Given the description of an element on the screen output the (x, y) to click on. 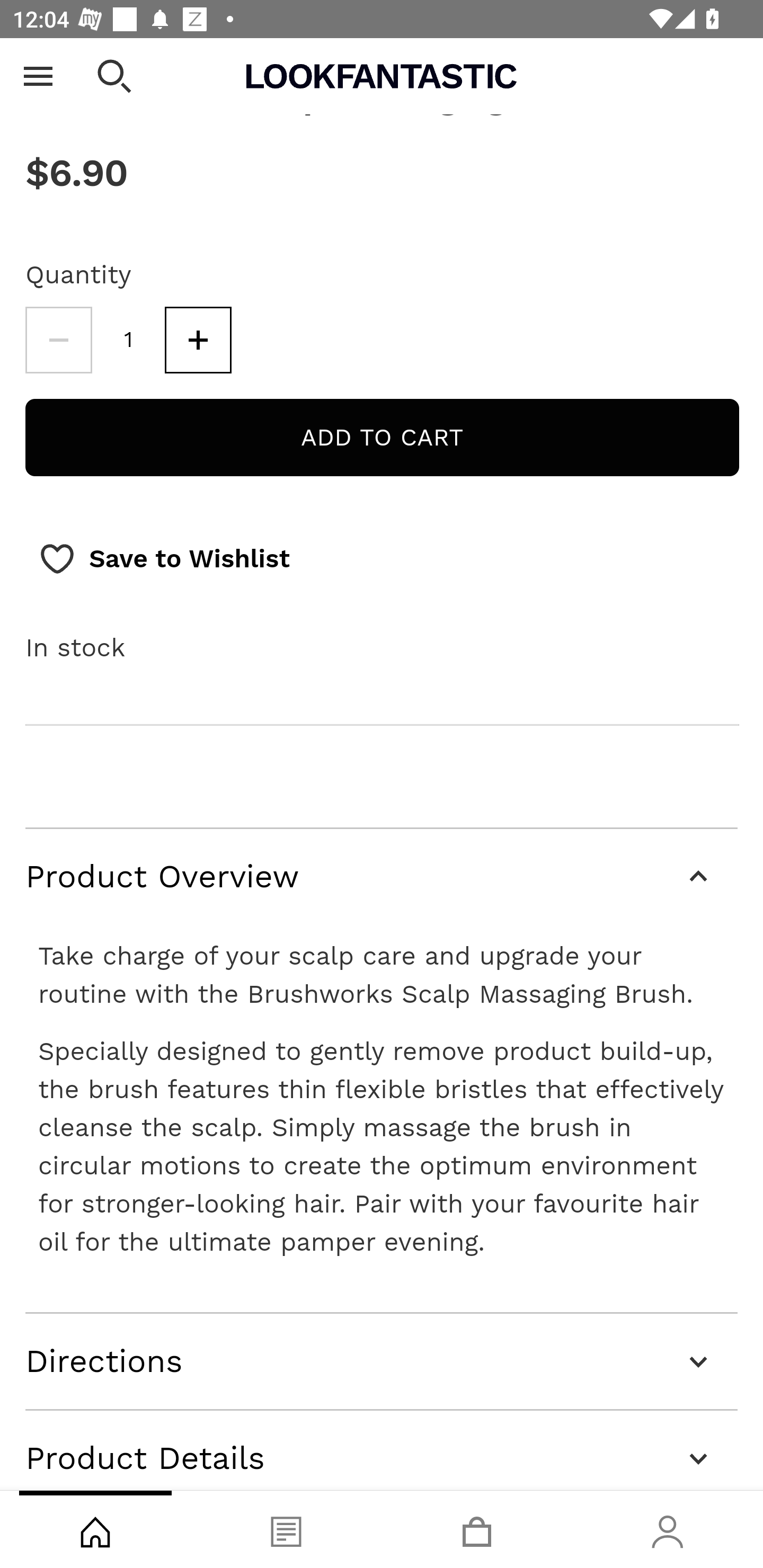
Decrease quantity (58, 340)
1, Quantity (128, 340)
Increase quantity (197, 340)
Add to cart (382, 438)
Save to Wishlist (164, 559)
Product Overview (381, 877)
Directions (381, 1361)
Product Details (381, 1450)
Shop, tab, 1 of 4 (95, 1529)
Blog, tab, 2 of 4 (285, 1529)
Basket, tab, 3 of 4 (476, 1529)
Account, tab, 4 of 4 (667, 1529)
